Given the description of an element on the screen output the (x, y) to click on. 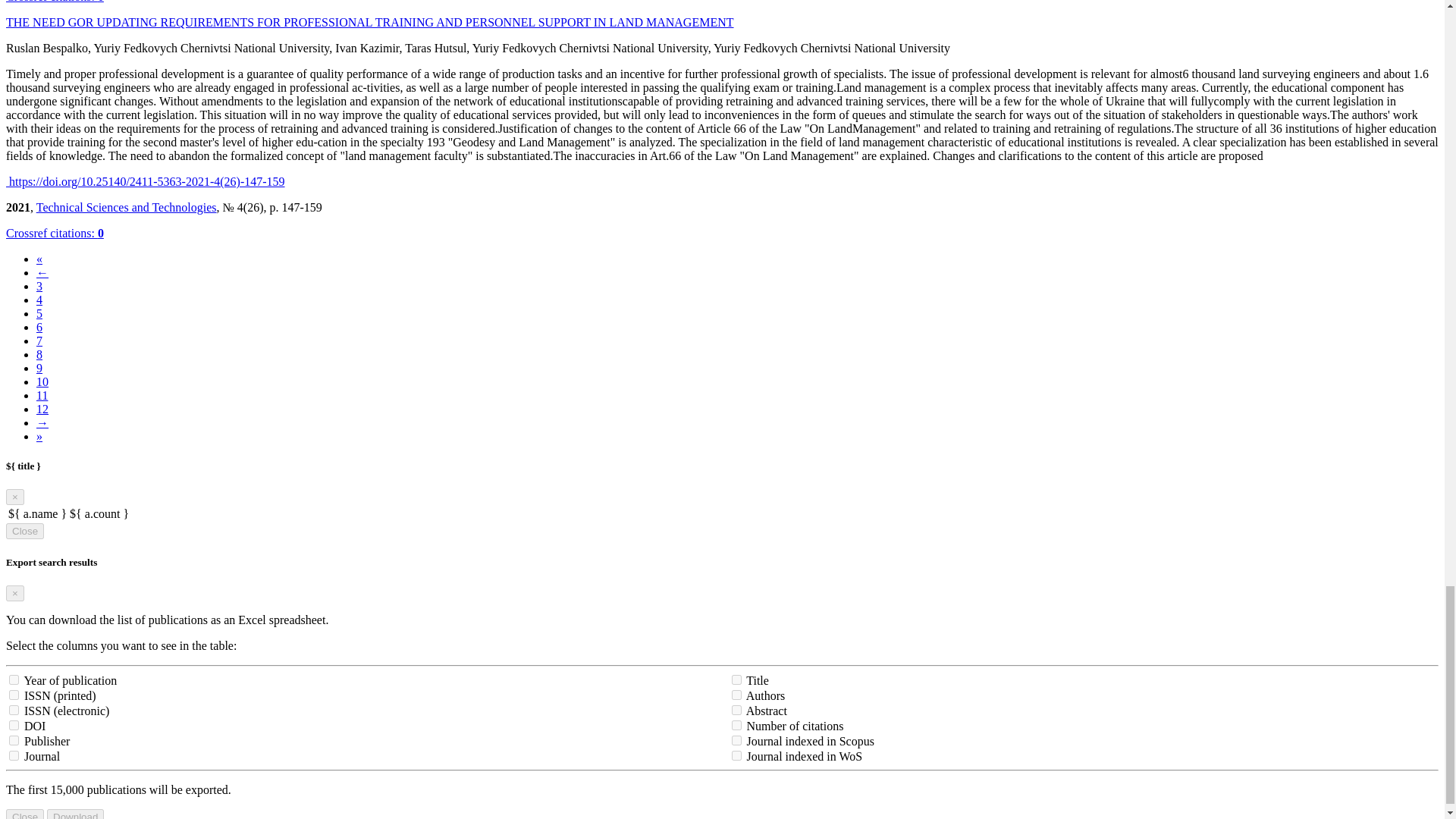
on (735, 679)
on (13, 709)
on (13, 695)
on (13, 740)
on (13, 725)
on (735, 725)
on (13, 755)
on (735, 740)
on (735, 695)
on (13, 679)
